Given the description of an element on the screen output the (x, y) to click on. 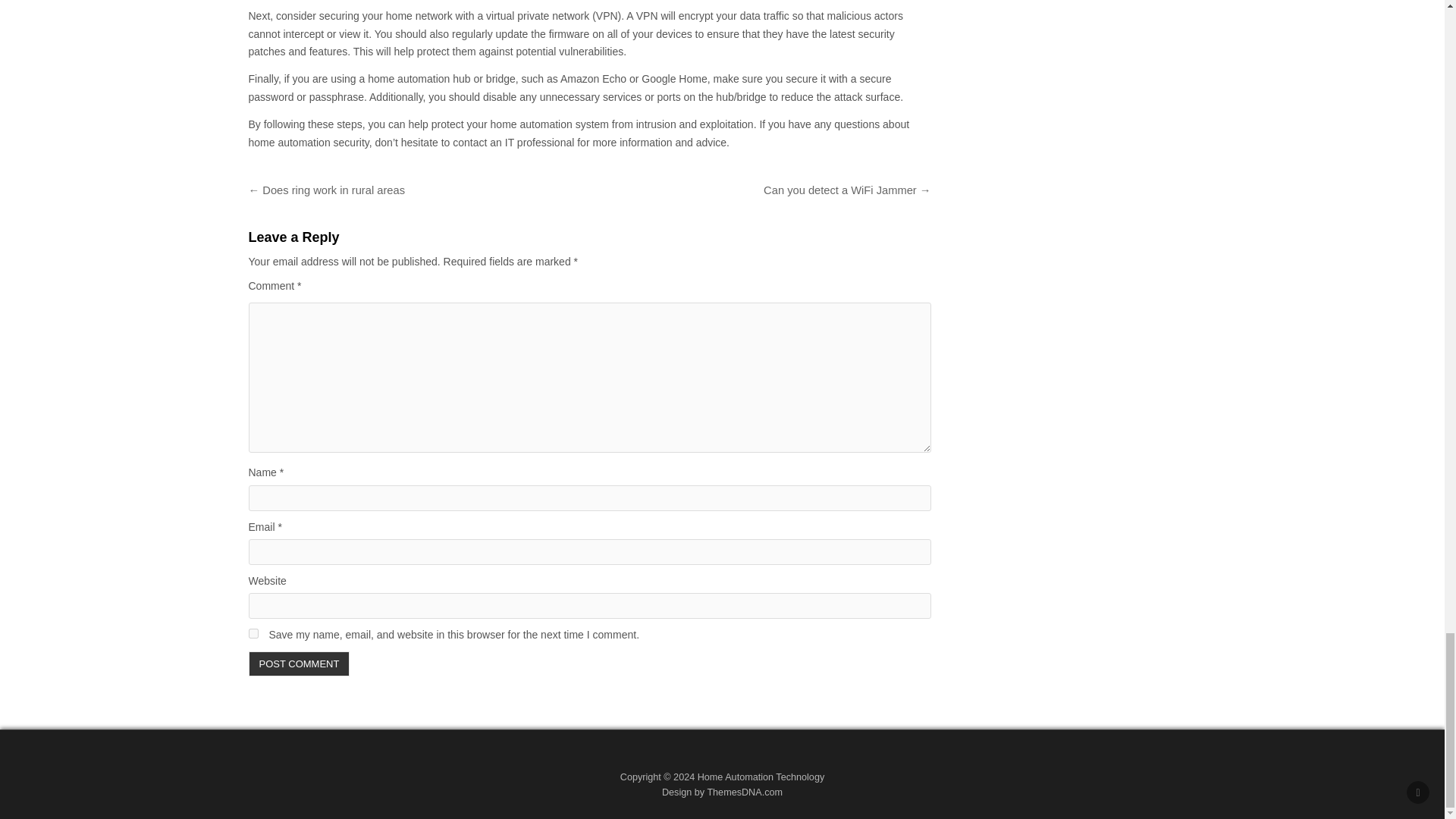
Post Comment (299, 663)
Post Comment (299, 663)
Design by ThemesDNA.com (722, 792)
yes (253, 633)
